Given the description of an element on the screen output the (x, y) to click on. 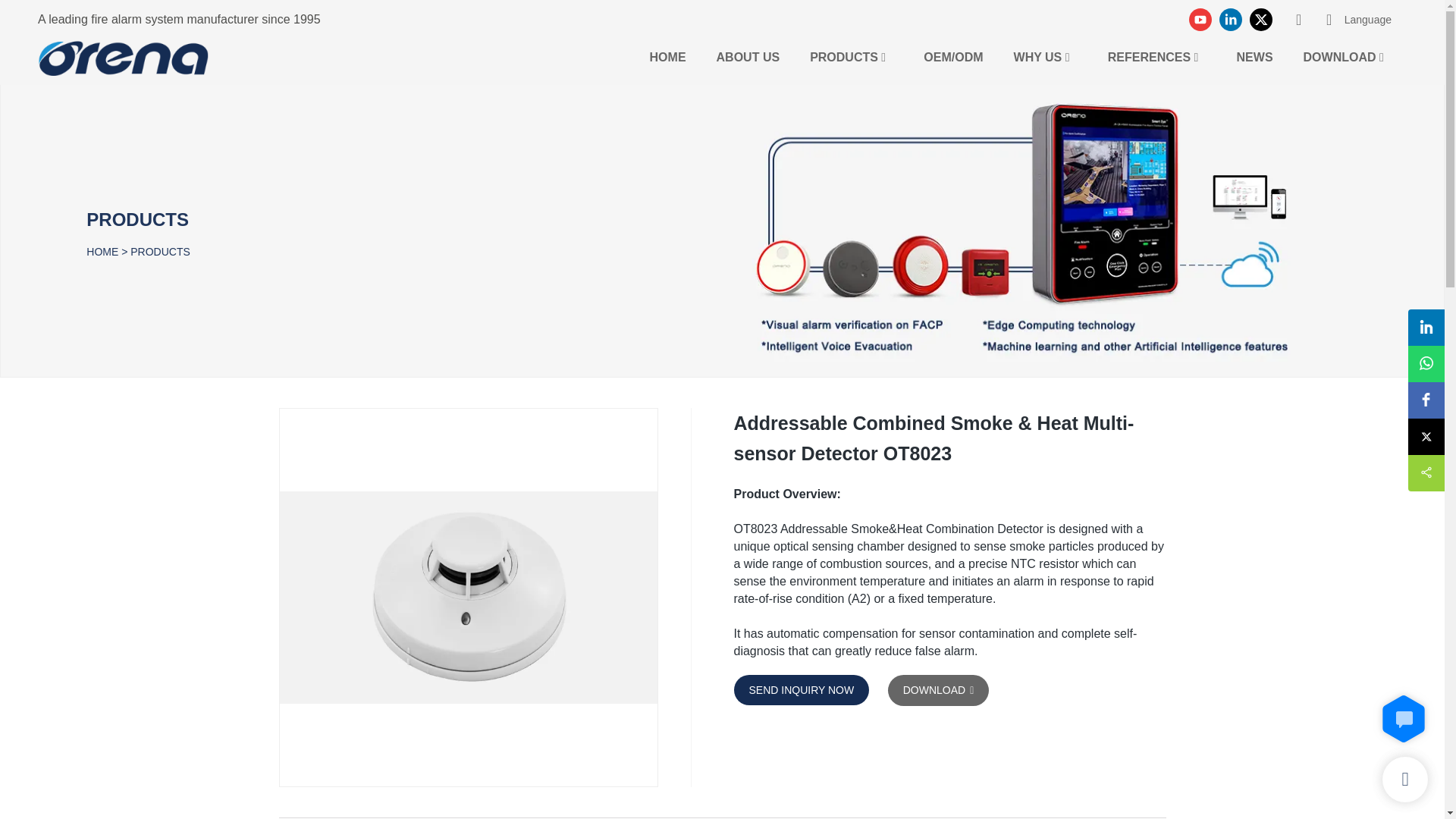
PRODUCTS (843, 56)
ABOUT US (748, 56)
linkedin (1230, 19)
youtube (1200, 19)
HOME (667, 56)
twitter (1261, 19)
